Given the description of an element on the screen output the (x, y) to click on. 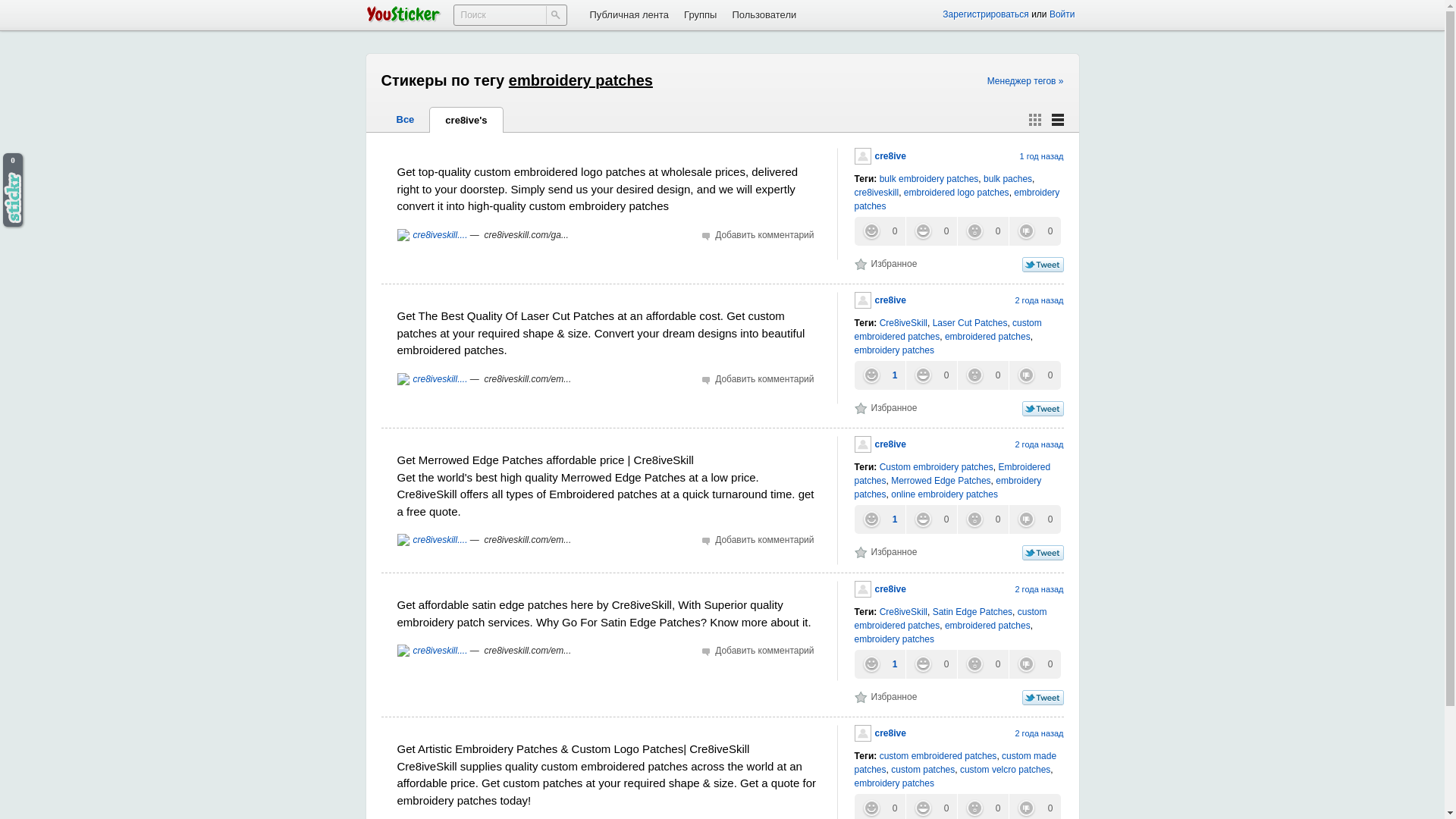
like (878, 375)
cre8ive's (465, 119)
cre8iveskill (875, 192)
0 (930, 231)
lol (930, 375)
YouSticker.com (403, 13)
embroidered logo patches (956, 192)
cre8ive (879, 299)
bulk paches (1008, 178)
omg (981, 231)
sucks (1034, 375)
bulk embroidery patches (928, 178)
0 (981, 231)
default (1056, 119)
lol (930, 231)
